Given the description of an element on the screen output the (x, y) to click on. 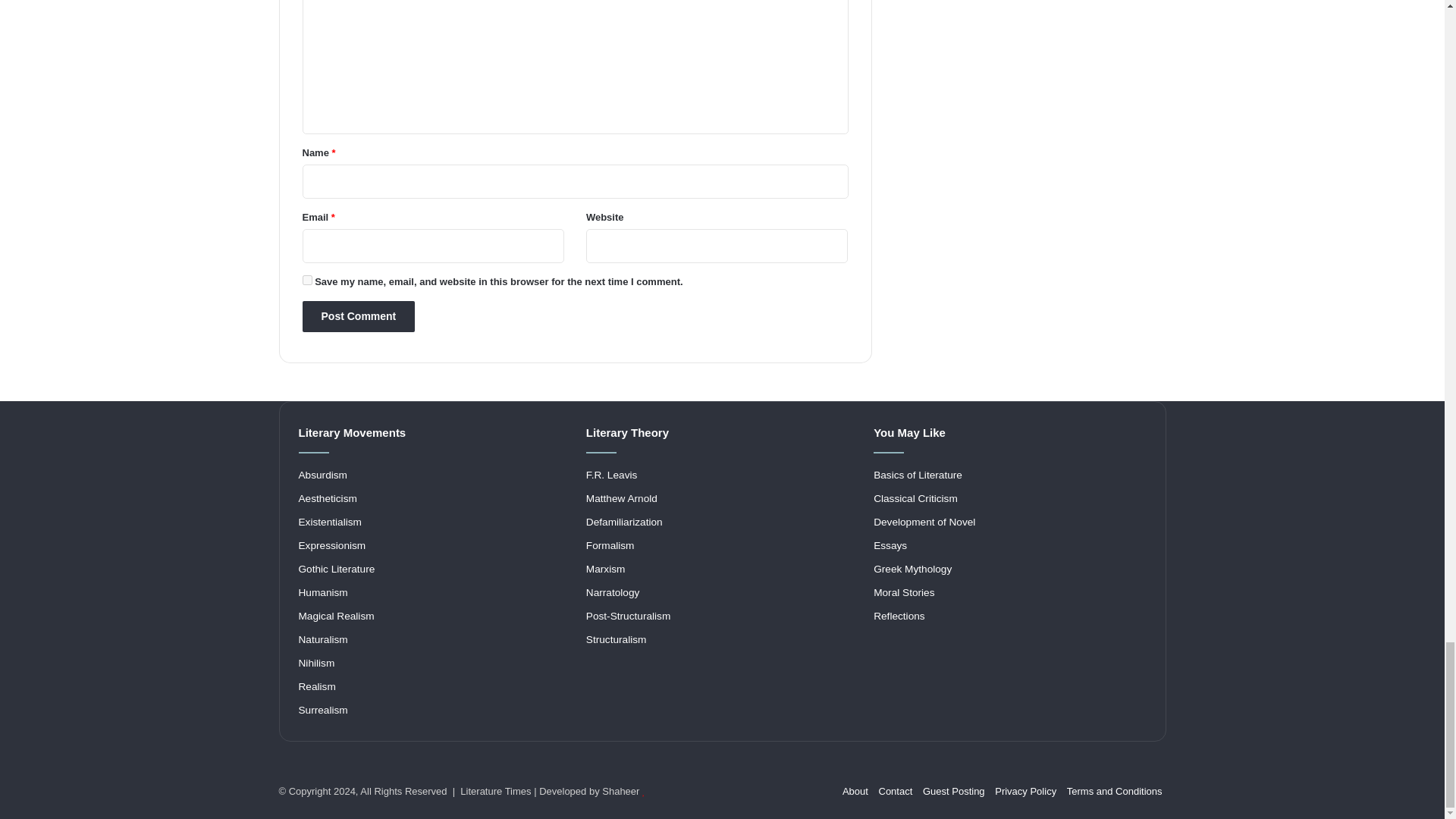
yes (306, 280)
Post Comment (357, 316)
